Given the description of an element on the screen output the (x, y) to click on. 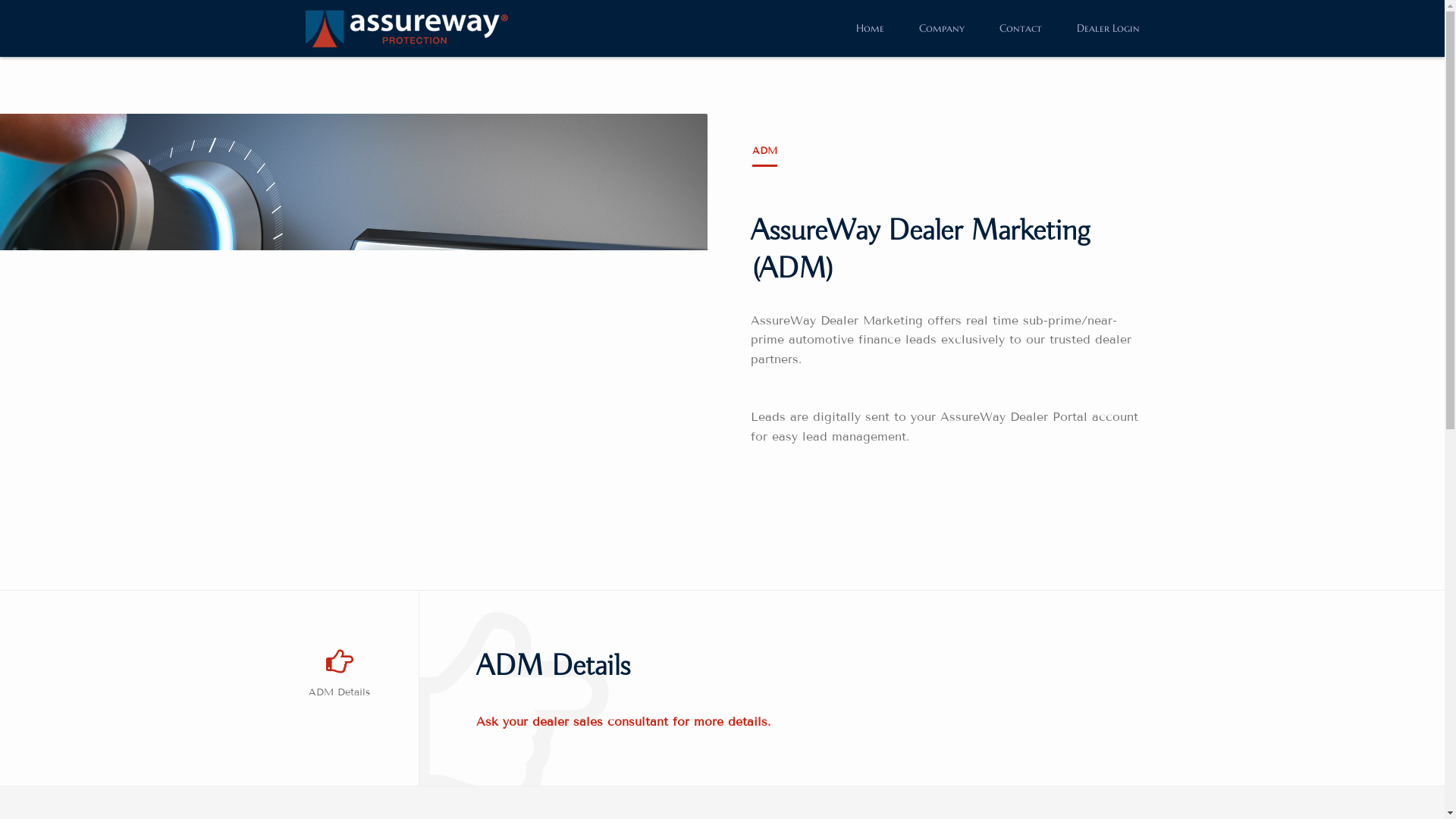
Dealer Login Element type: text (1100, 28)
Home Element type: text (869, 28)
Contact Element type: text (1020, 28)
Company Element type: text (941, 28)
